Given the description of an element on the screen output the (x, y) to click on. 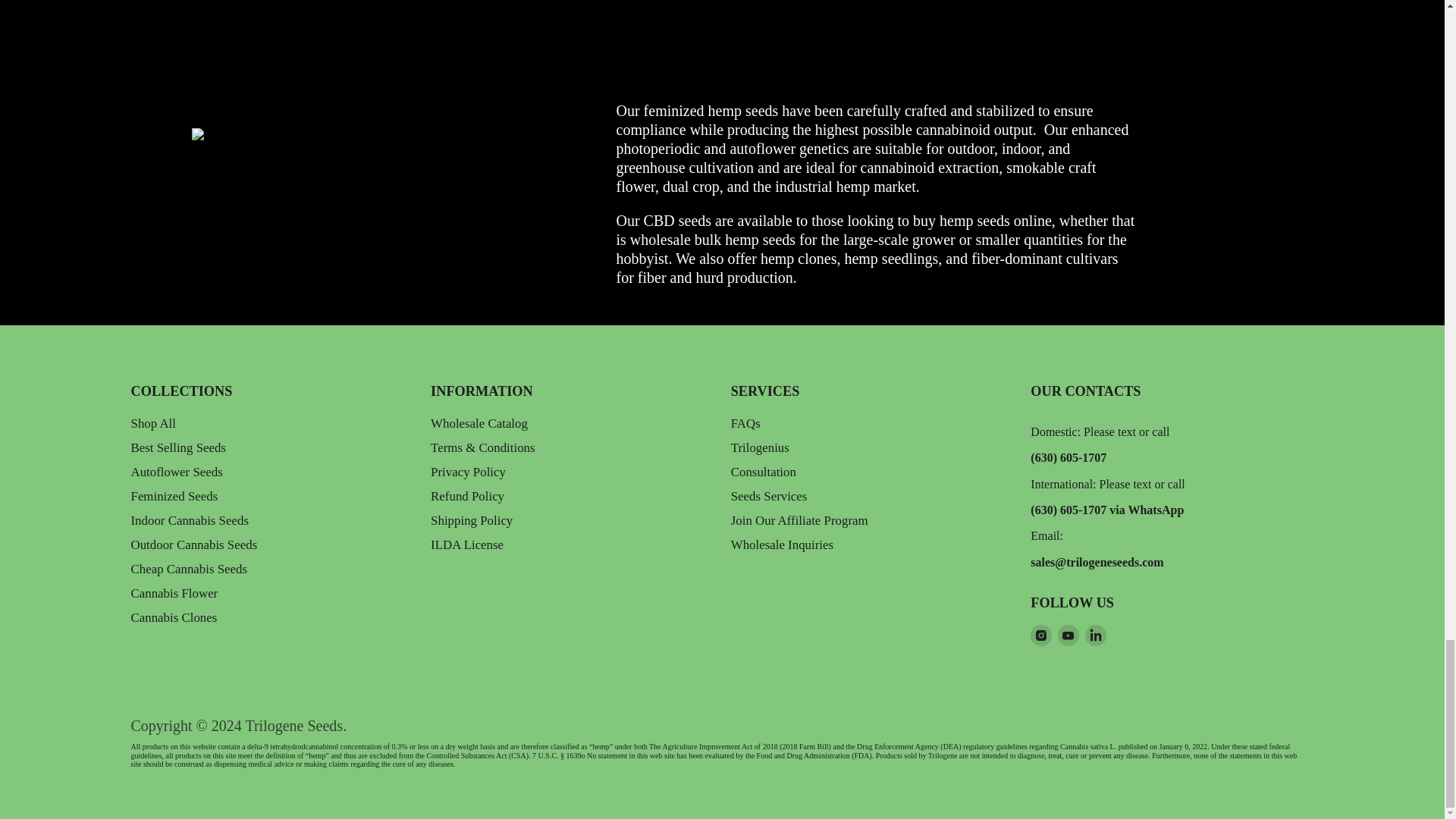
Instagram (1040, 635)
Youtube (1068, 635)
LinkedIn (1095, 635)
